Given the description of an element on the screen output the (x, y) to click on. 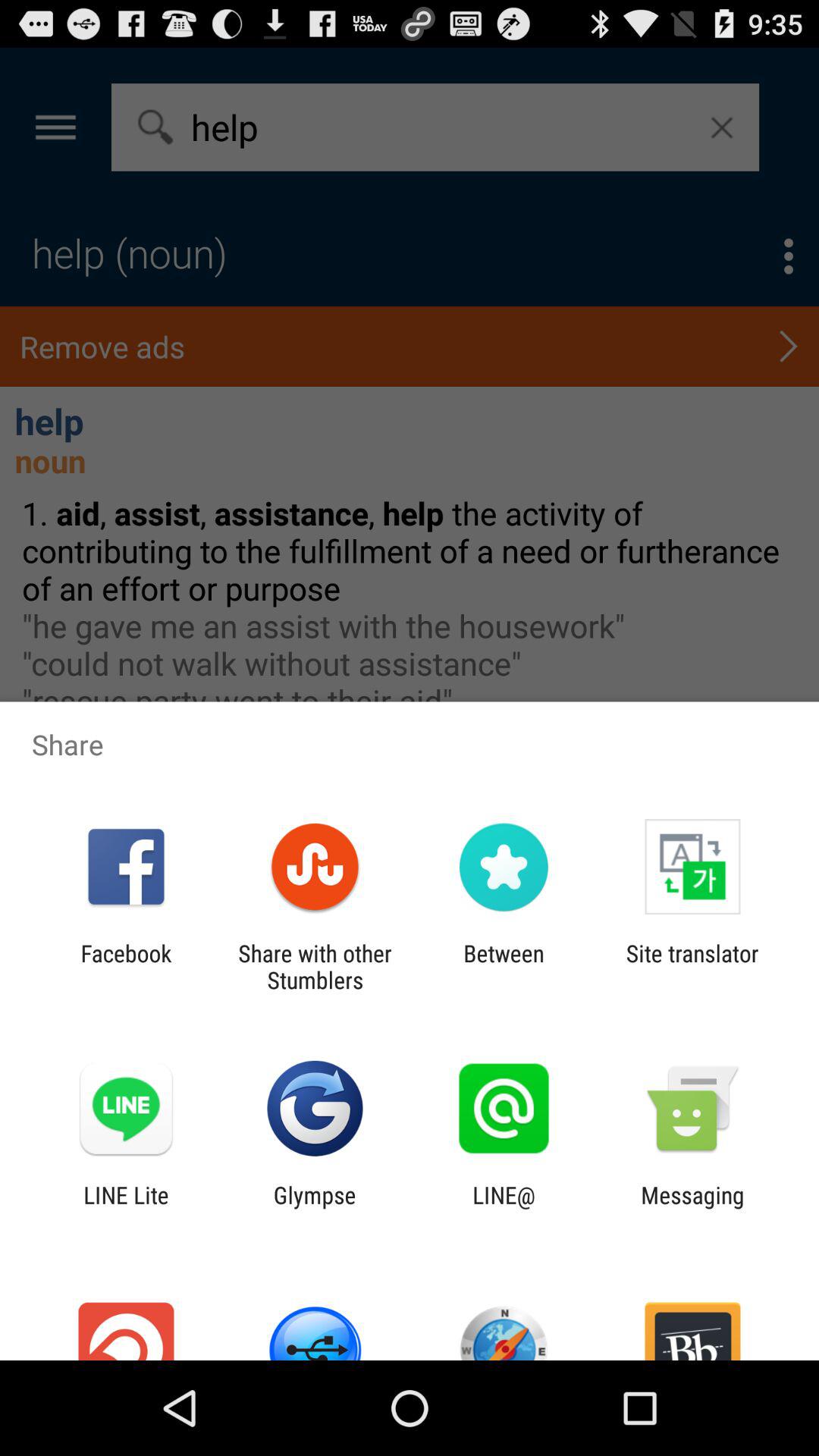
turn on the item to the left of the between (314, 966)
